Given the description of an element on the screen output the (x, y) to click on. 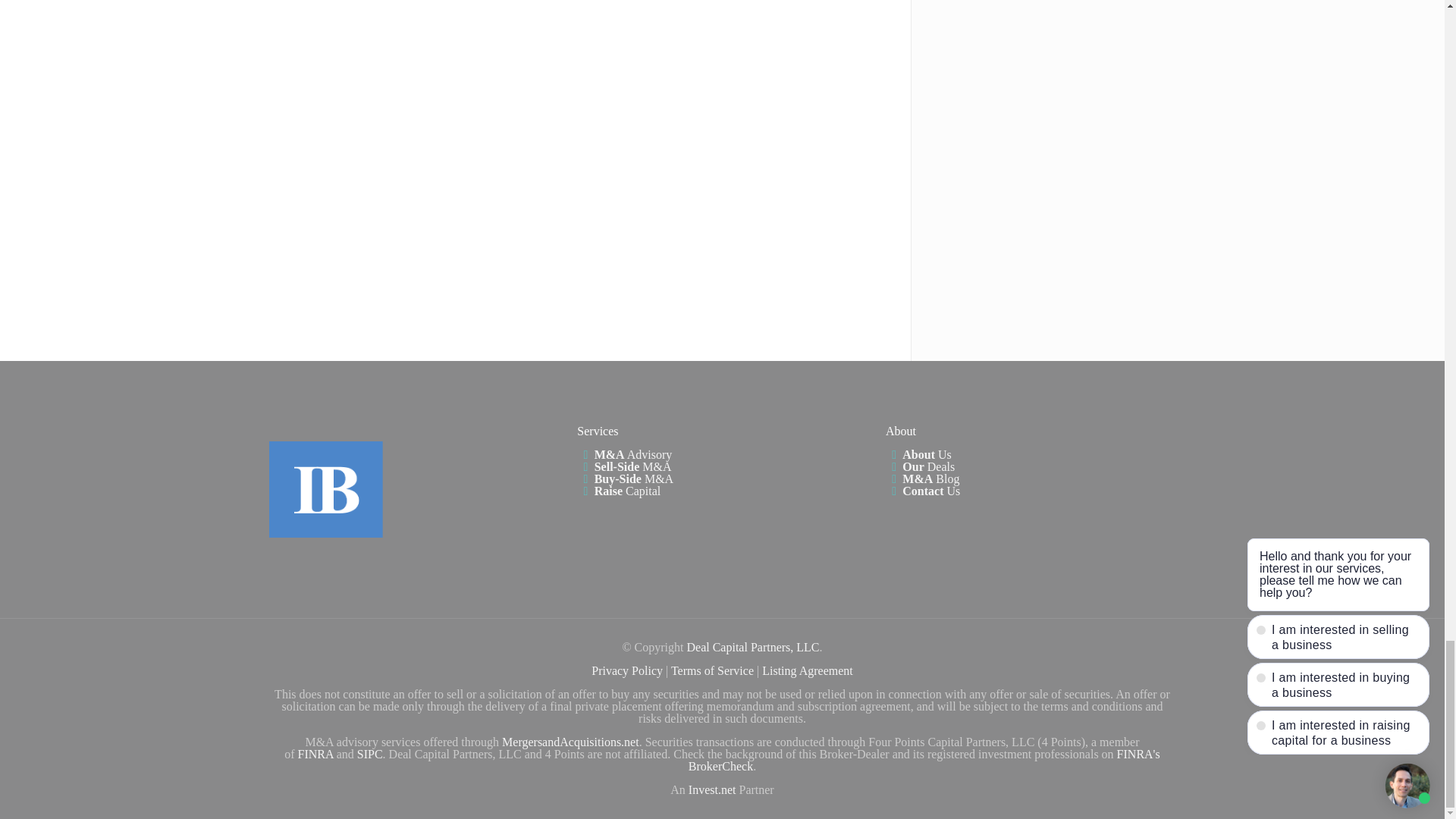
Raise Capital (618, 490)
